Given the description of an element on the screen output the (x, y) to click on. 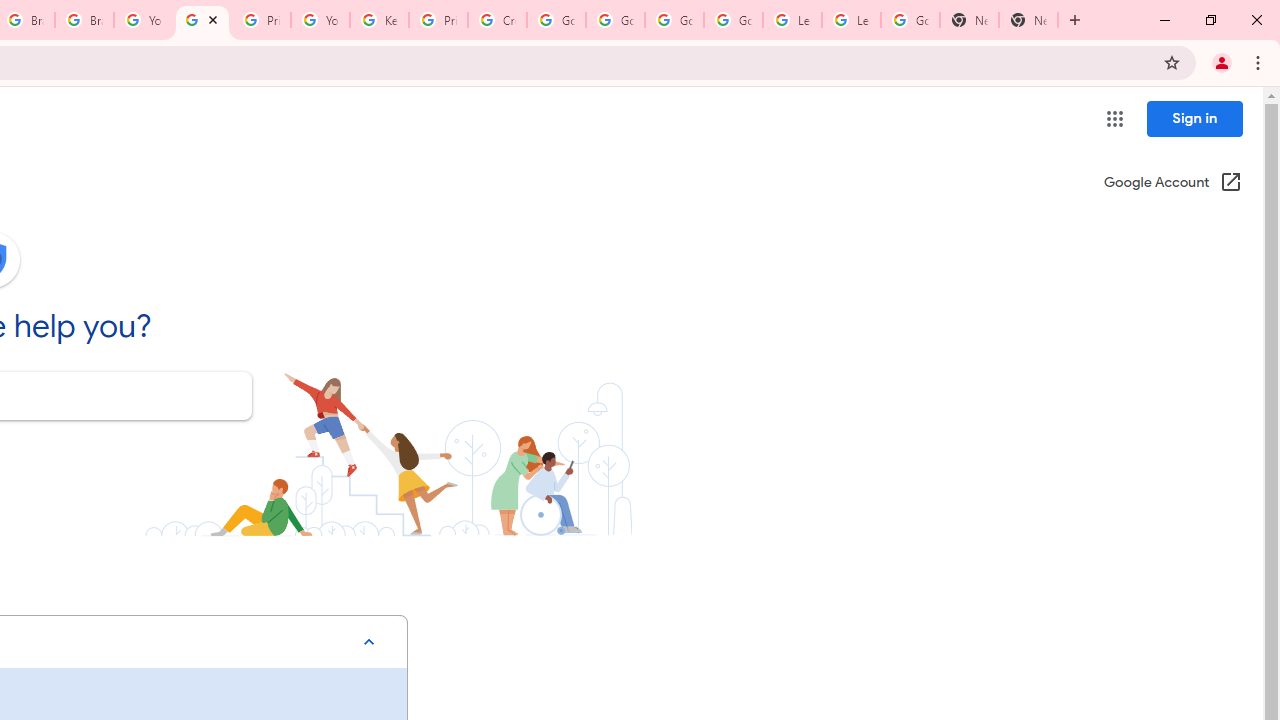
YouTube (142, 20)
New Tab (969, 20)
Google Account (909, 20)
Google Account (Open in a new window) (1172, 183)
YouTube (319, 20)
Create your Google Account (497, 20)
Google Account Help (556, 20)
Google Account Help (201, 20)
Google Account Help (615, 20)
